Given the description of an element on the screen output the (x, y) to click on. 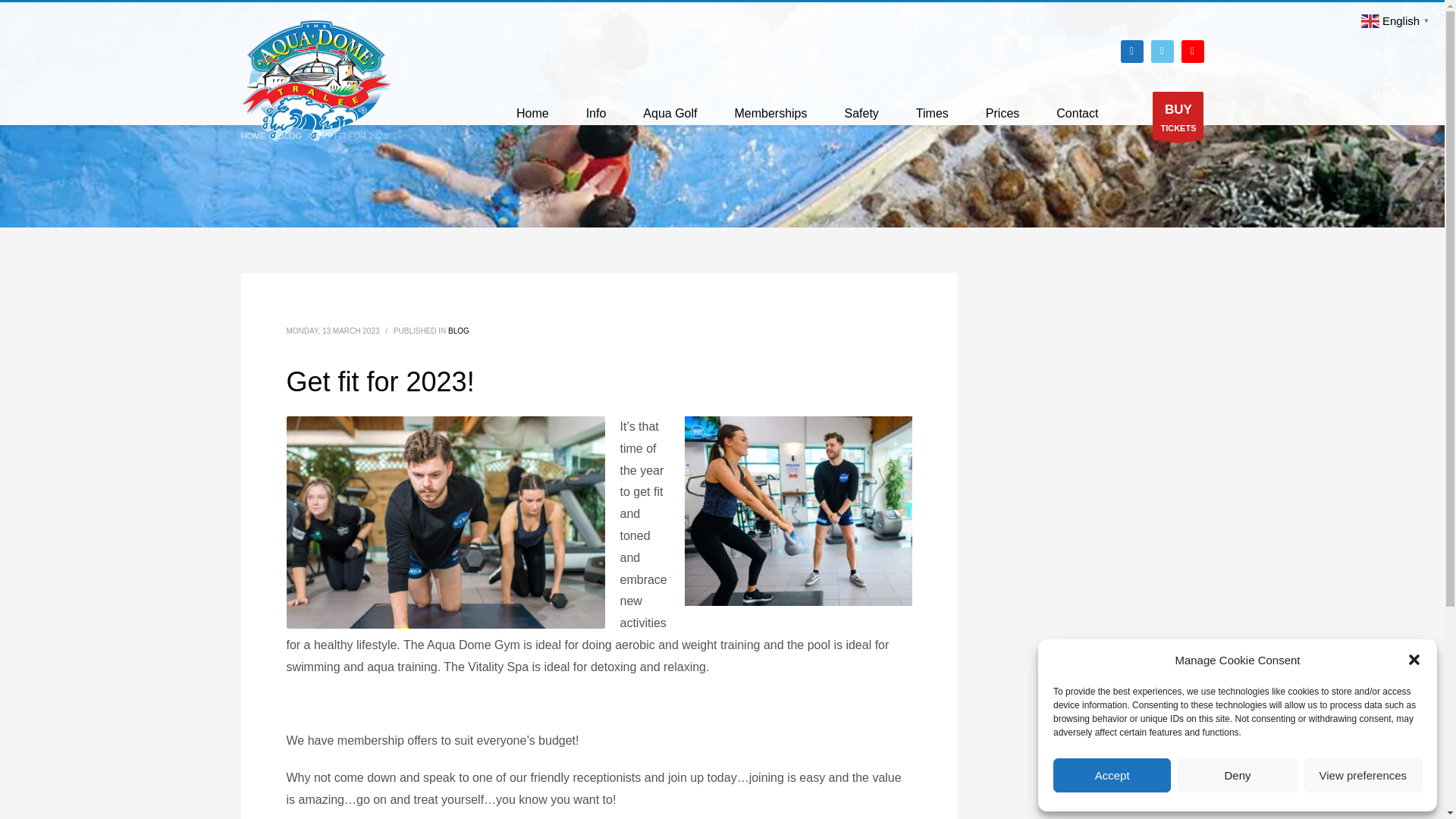
Deny (1236, 775)
Info (595, 113)
Accept (1111, 775)
View preferences (1363, 775)
Home (531, 113)
Just let yourself go... (317, 79)
